Given the description of an element on the screen output the (x, y) to click on. 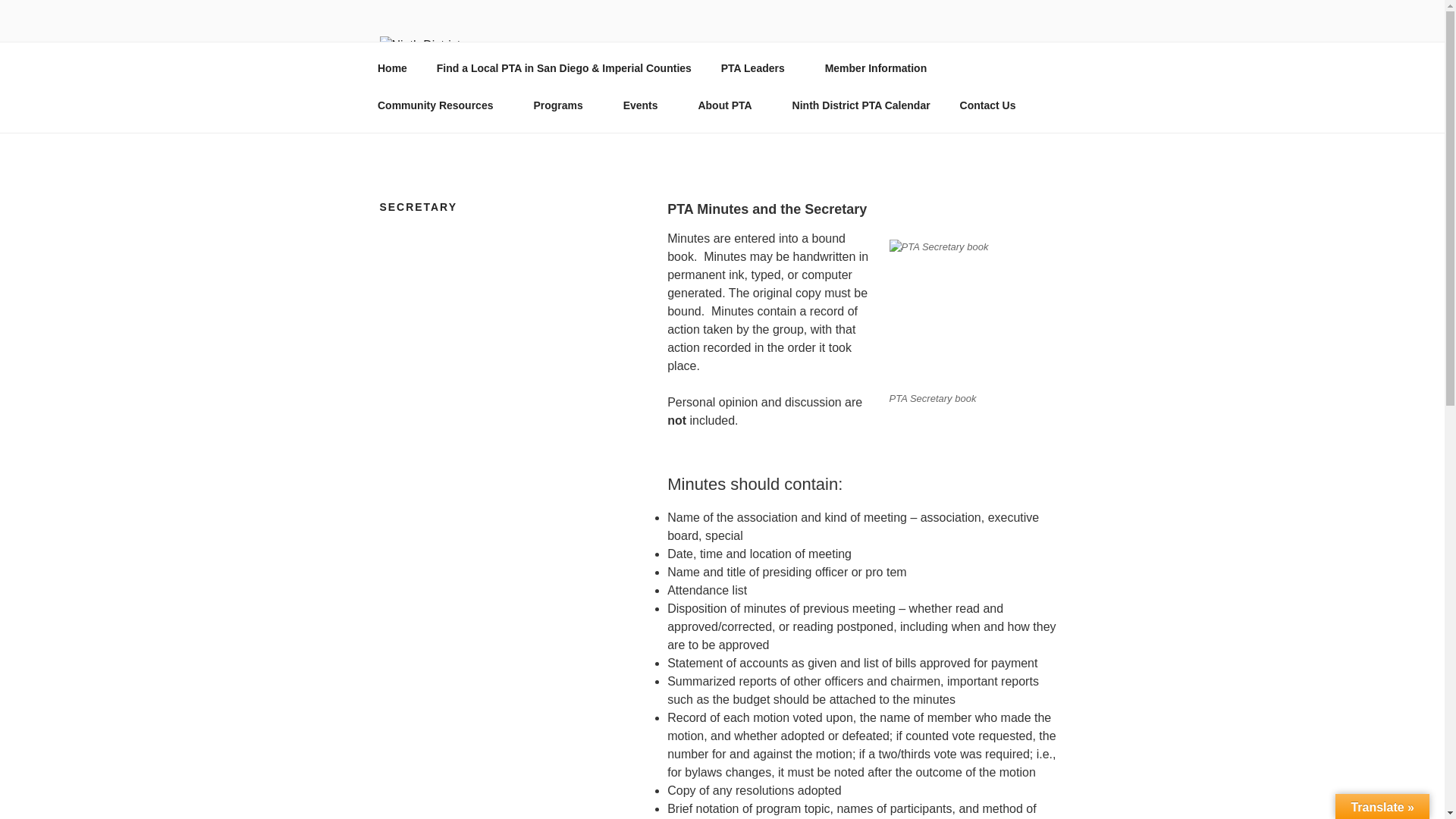
PTA Leaders (757, 67)
Home (392, 67)
Programs (563, 105)
Events (645, 105)
Member Information (880, 67)
Community Resources (440, 105)
NINTH DISTRICT PTA (652, 57)
About PTA (730, 105)
